Given the description of an element on the screen output the (x, y) to click on. 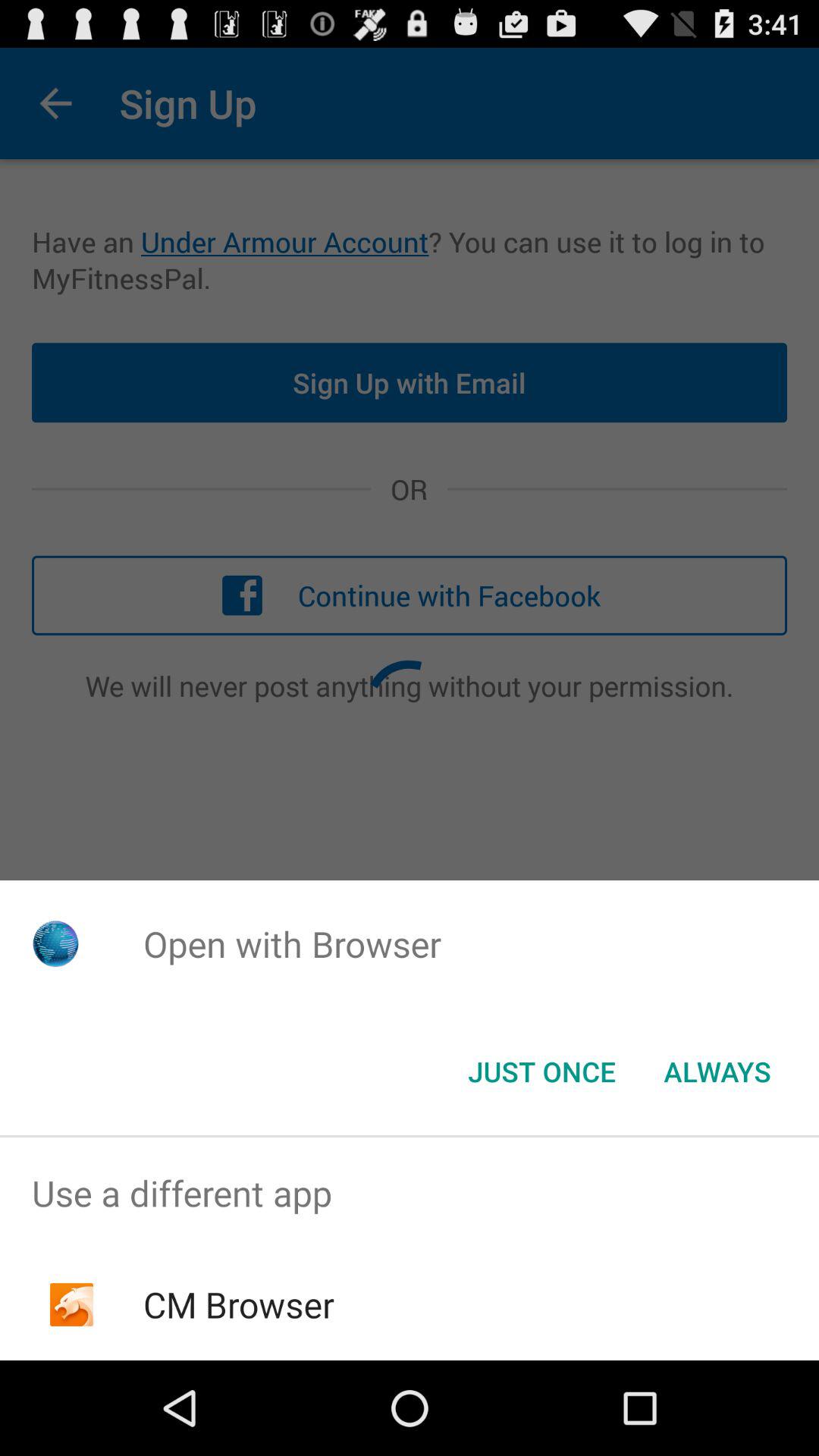
tap just once item (541, 1071)
